Given the description of an element on the screen output the (x, y) to click on. 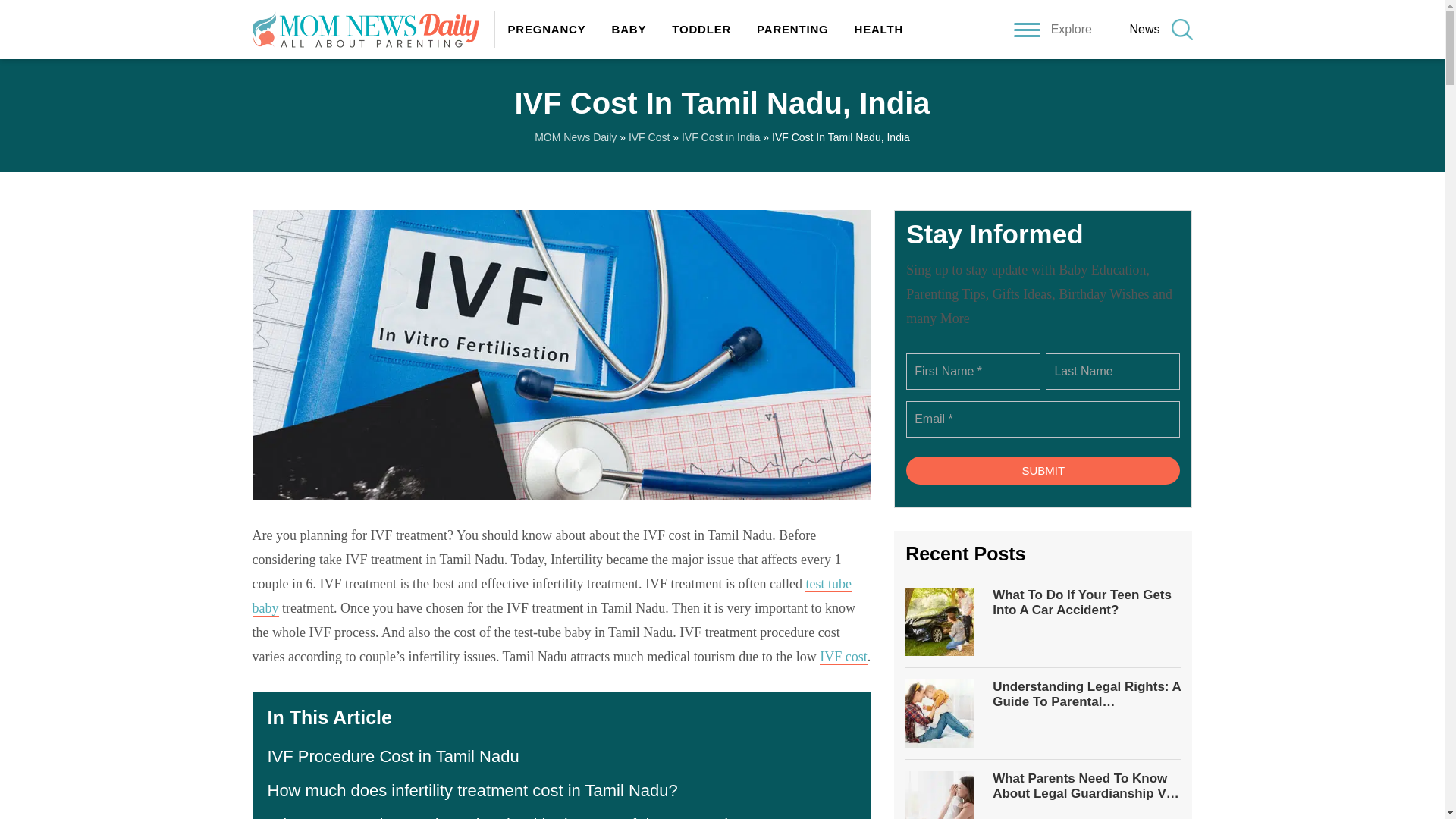
PARENTING (792, 29)
IVF Cost in India (720, 137)
MOM News Daily (574, 137)
TODDLER (701, 29)
IVF cost (843, 657)
test tube baby (550, 596)
BABY (628, 29)
PREGNANCY (546, 29)
News (1143, 29)
IVF Cost (648, 137)
